Given the description of an element on the screen output the (x, y) to click on. 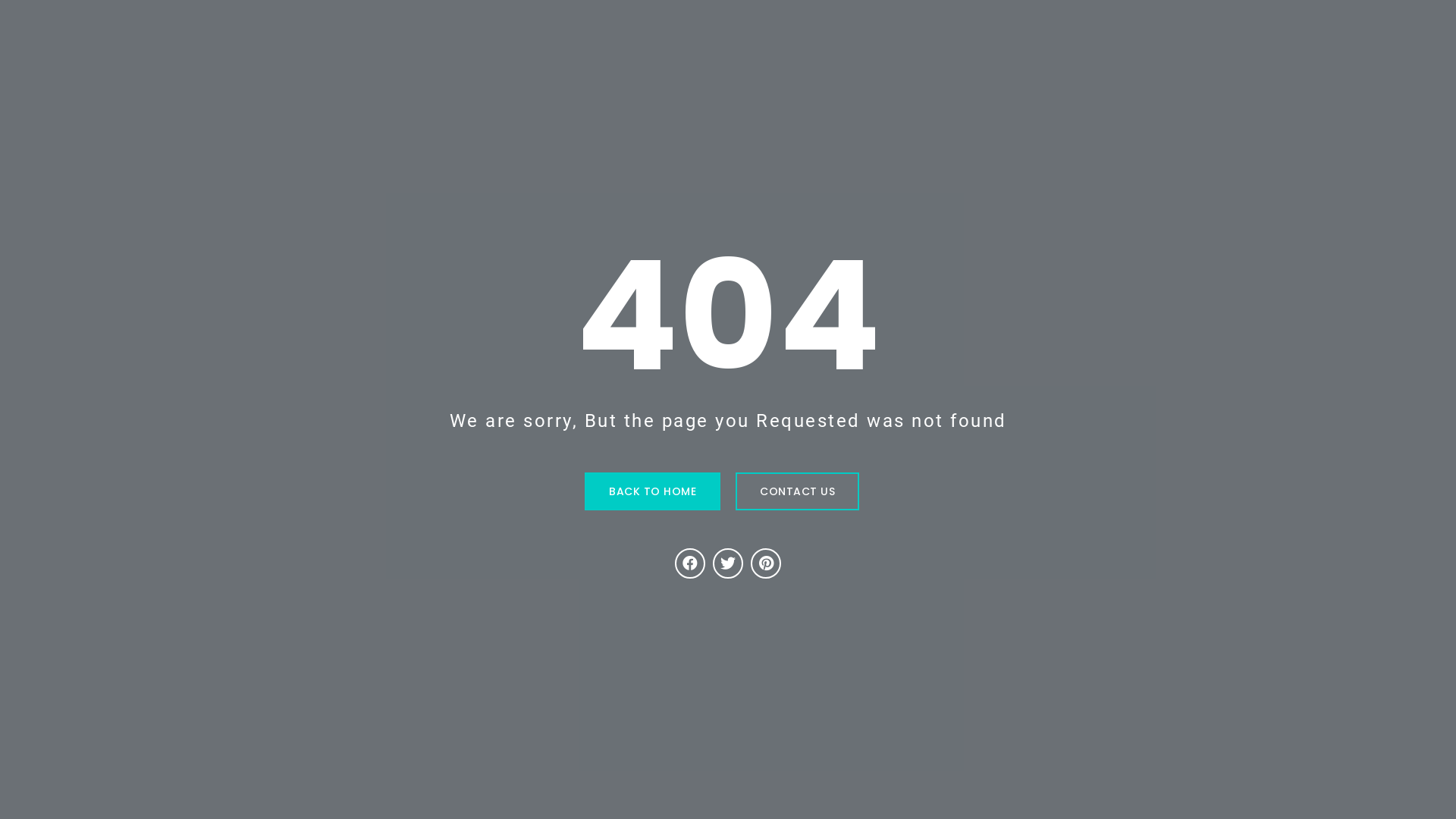
CONTACT US Element type: text (797, 491)
BACK TO HOME Element type: text (652, 491)
